Given the description of an element on the screen output the (x, y) to click on. 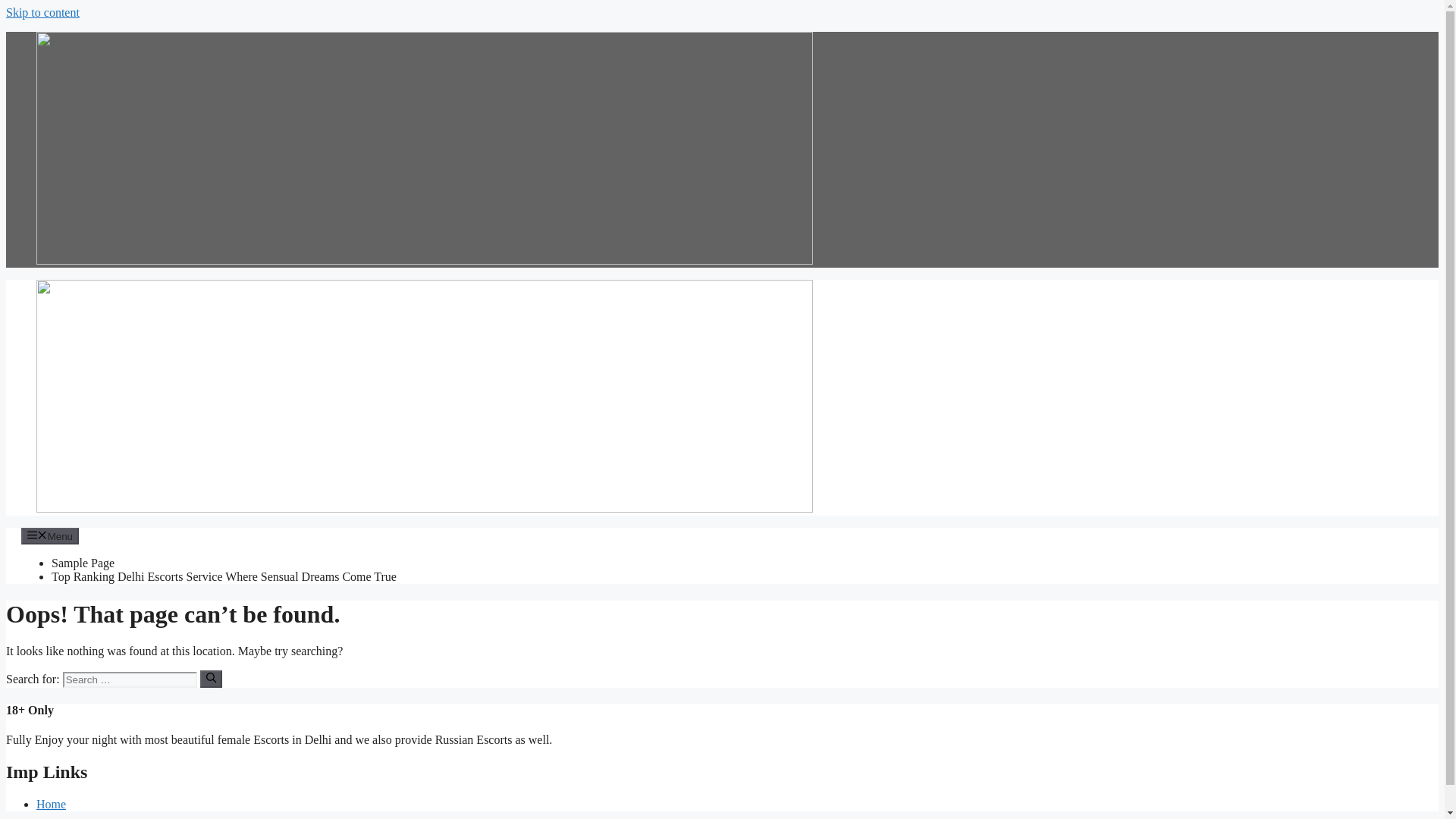
Search for: (129, 679)
Home (50, 803)
Menu (49, 535)
Skip to content (42, 11)
Sample Page (82, 562)
Skip to content (42, 11)
